Given the description of an element on the screen output the (x, y) to click on. 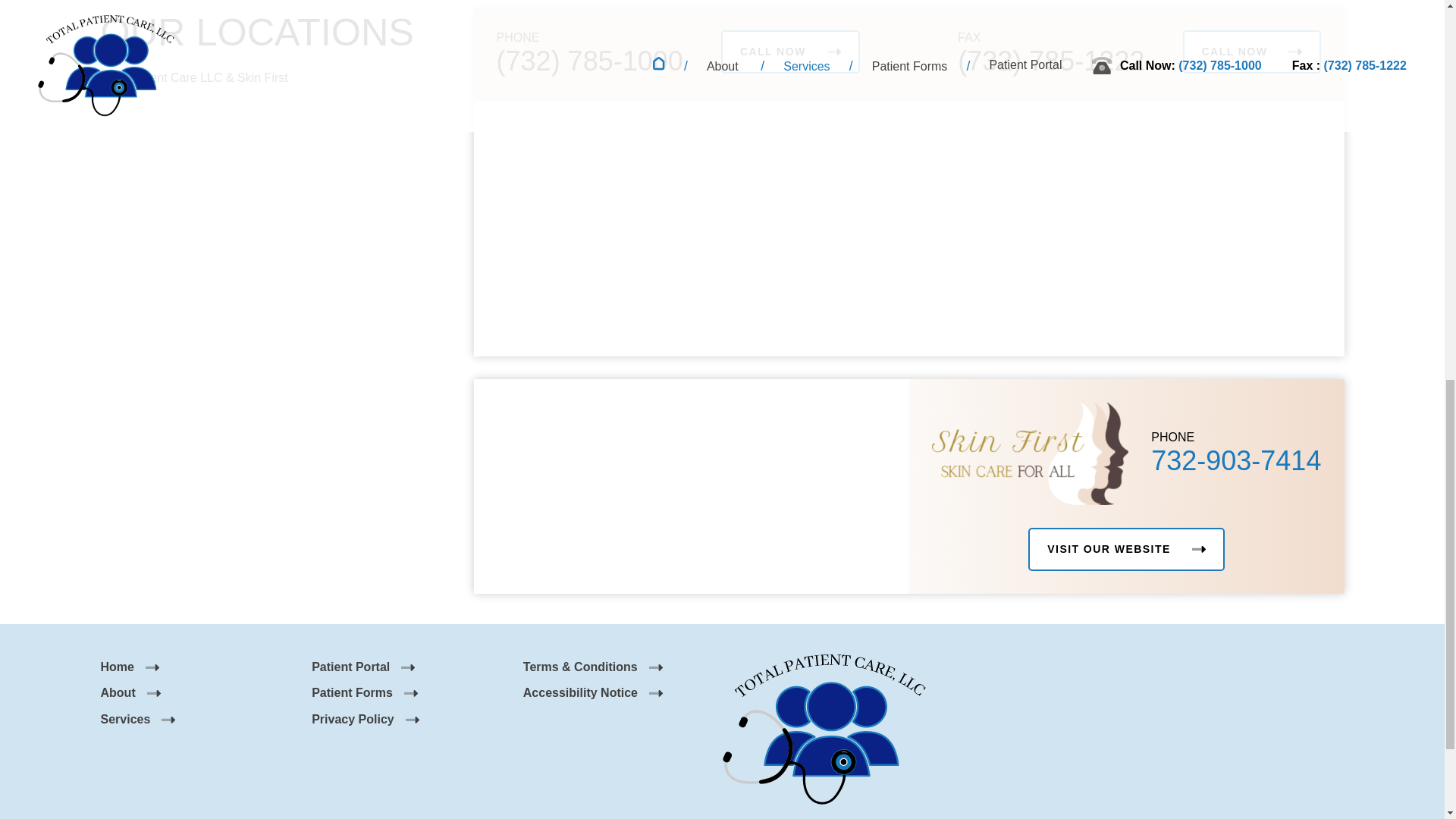
CALL NOW (790, 51)
Patient Portal (362, 666)
Home (129, 666)
Patient Forms (364, 692)
Services (137, 718)
Accessibility Notice (592, 692)
Privacy Policy (365, 718)
732-903-7414 (1235, 460)
VISIT OUR WEBSITE (1125, 548)
CALL NOW (1252, 51)
